Given the description of an element on the screen output the (x, y) to click on. 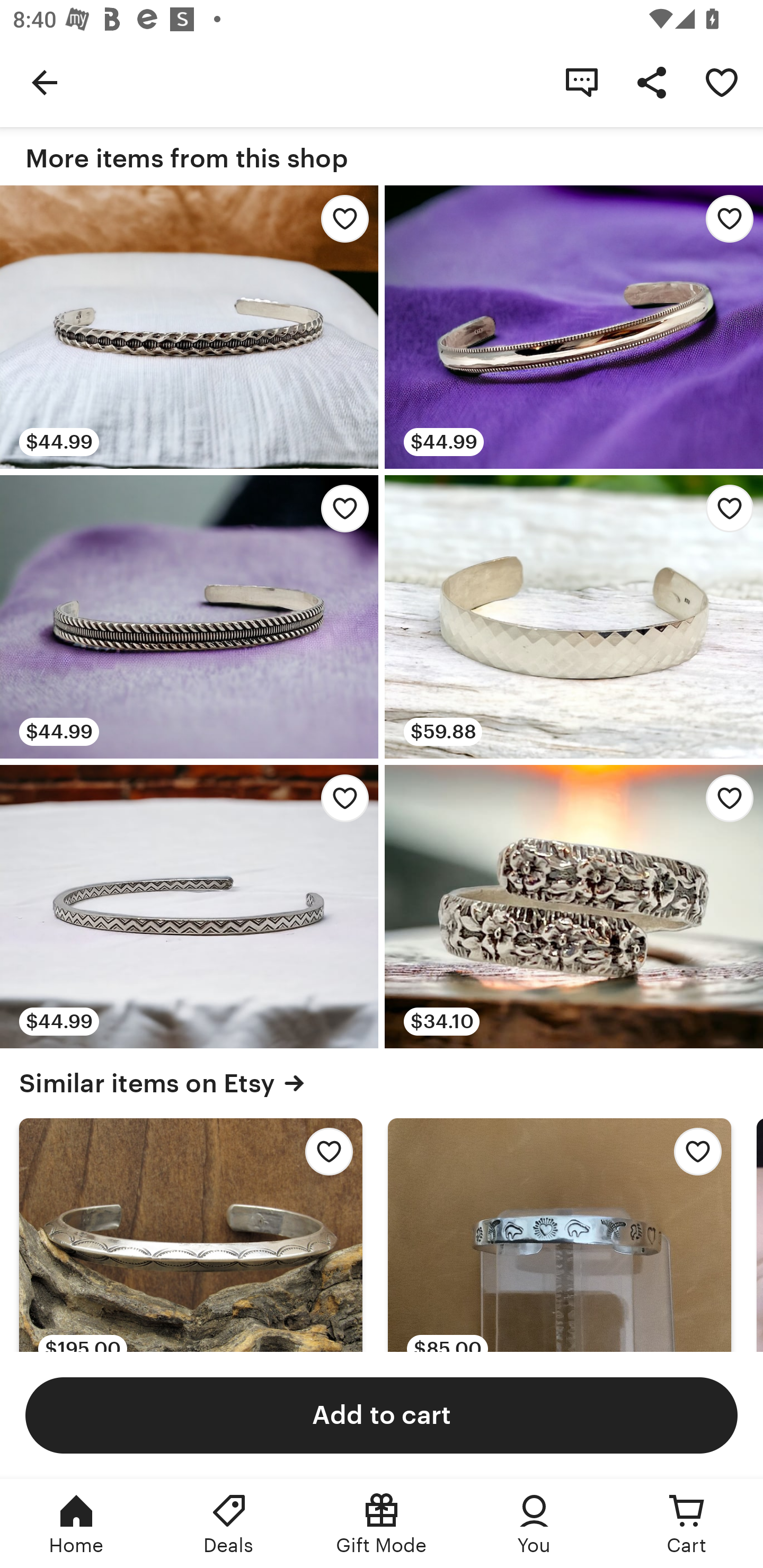
Navigate up (44, 81)
Contact shop (581, 81)
Share (651, 81)
Similar items on Etsy  (381, 1082)
Add to cart (381, 1414)
Deals (228, 1523)
Gift Mode (381, 1523)
You (533, 1523)
Cart (686, 1523)
